Given the description of an element on the screen output the (x, y) to click on. 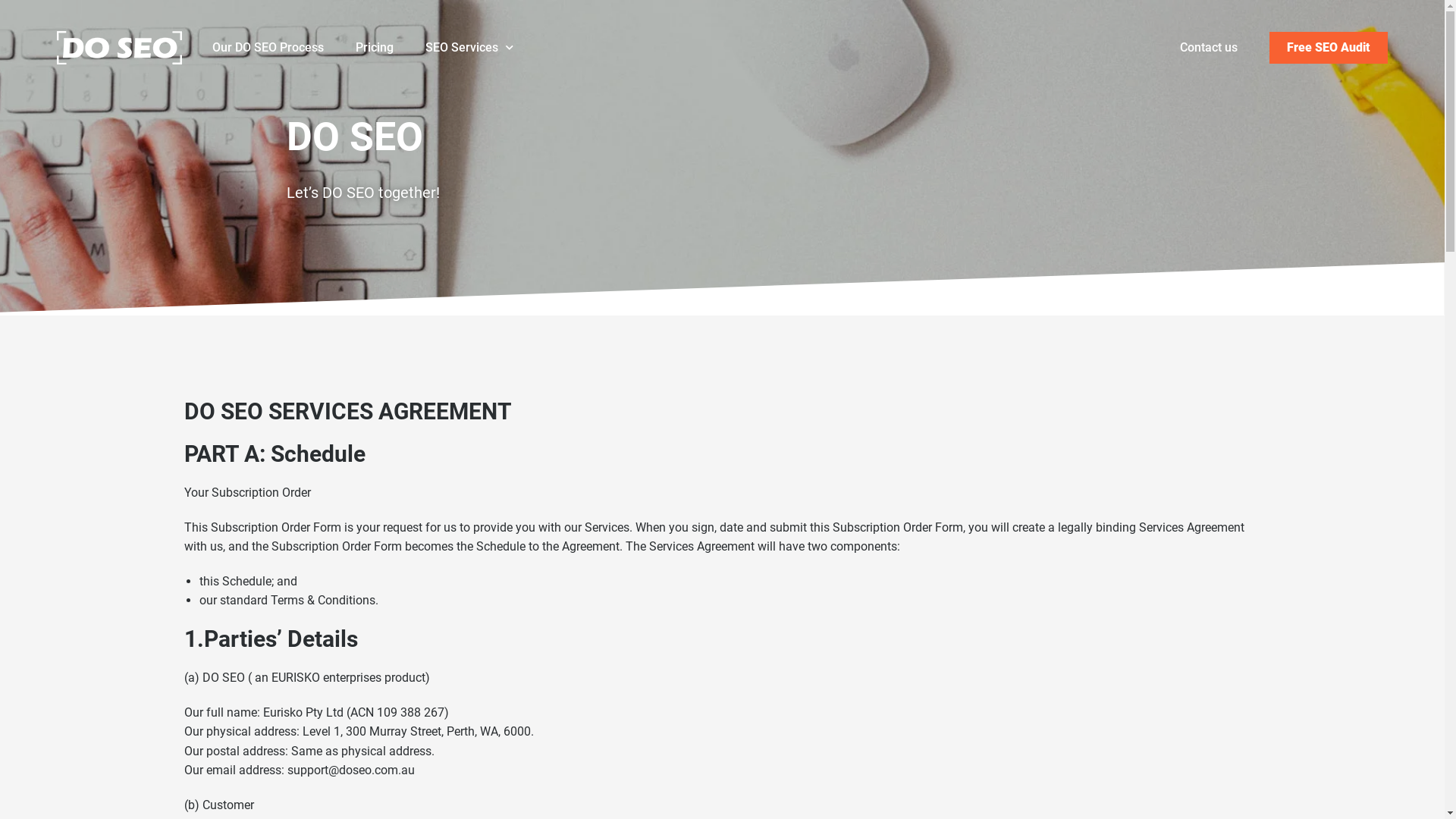
Pricing Element type: text (390, 47)
Our DO SEO Process Element type: text (283, 47)
logo.png Element type: hover (119, 47)
Contact us Element type: text (1208, 47)
Free SEO Audit Element type: text (1328, 47)
SEO Services Element type: text (485, 47)
